Given the description of an element on the screen output the (x, y) to click on. 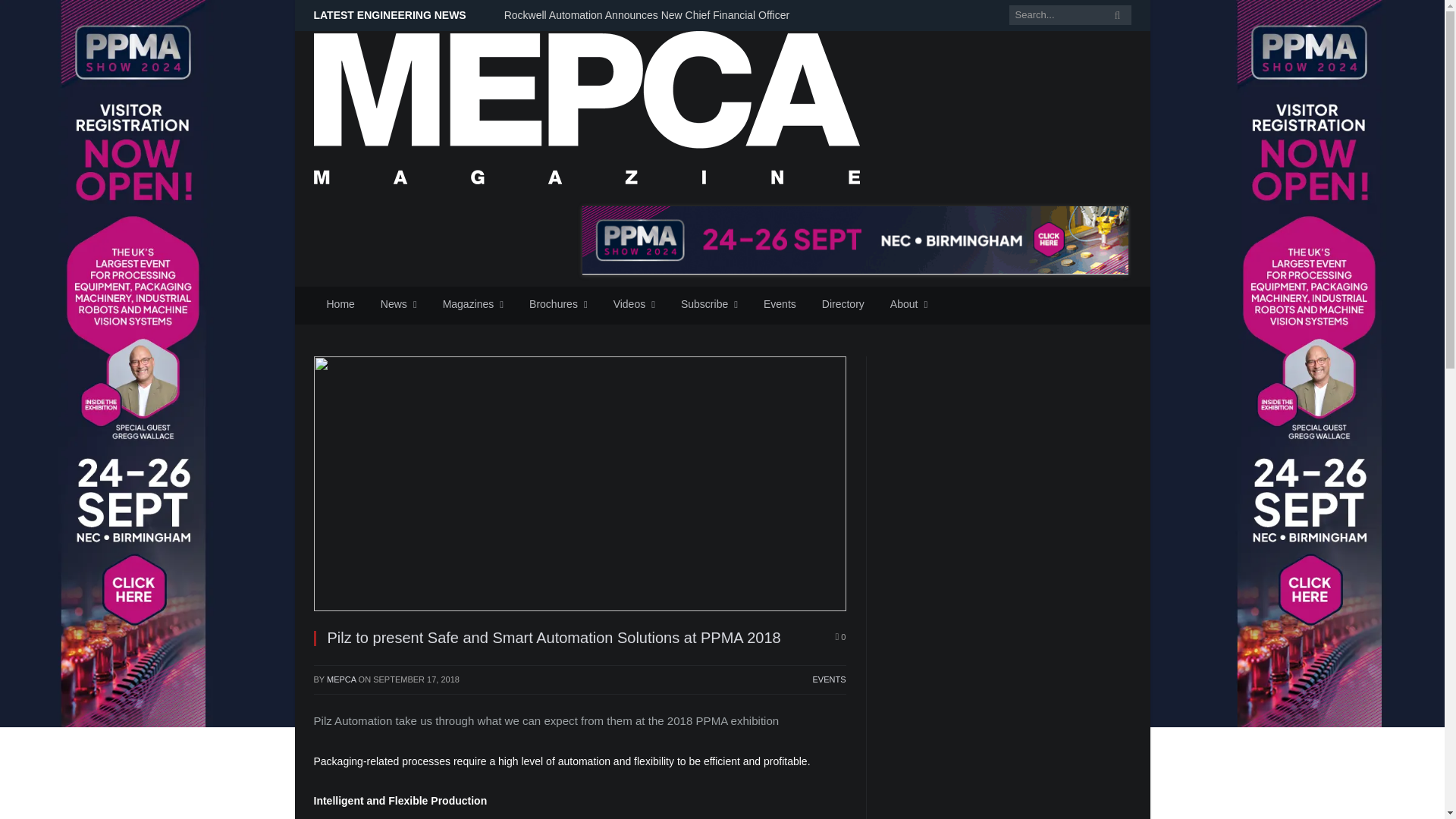
Home (341, 305)
2018-09-17 (416, 678)
Rockwell Automation Announces New Chief Financial Officer (649, 15)
Mepca Engineering (587, 105)
Posts by MEPCA (341, 678)
News (398, 305)
Rockwell Automation Announces New Chief Financial Officer (649, 15)
